Given the description of an element on the screen output the (x, y) to click on. 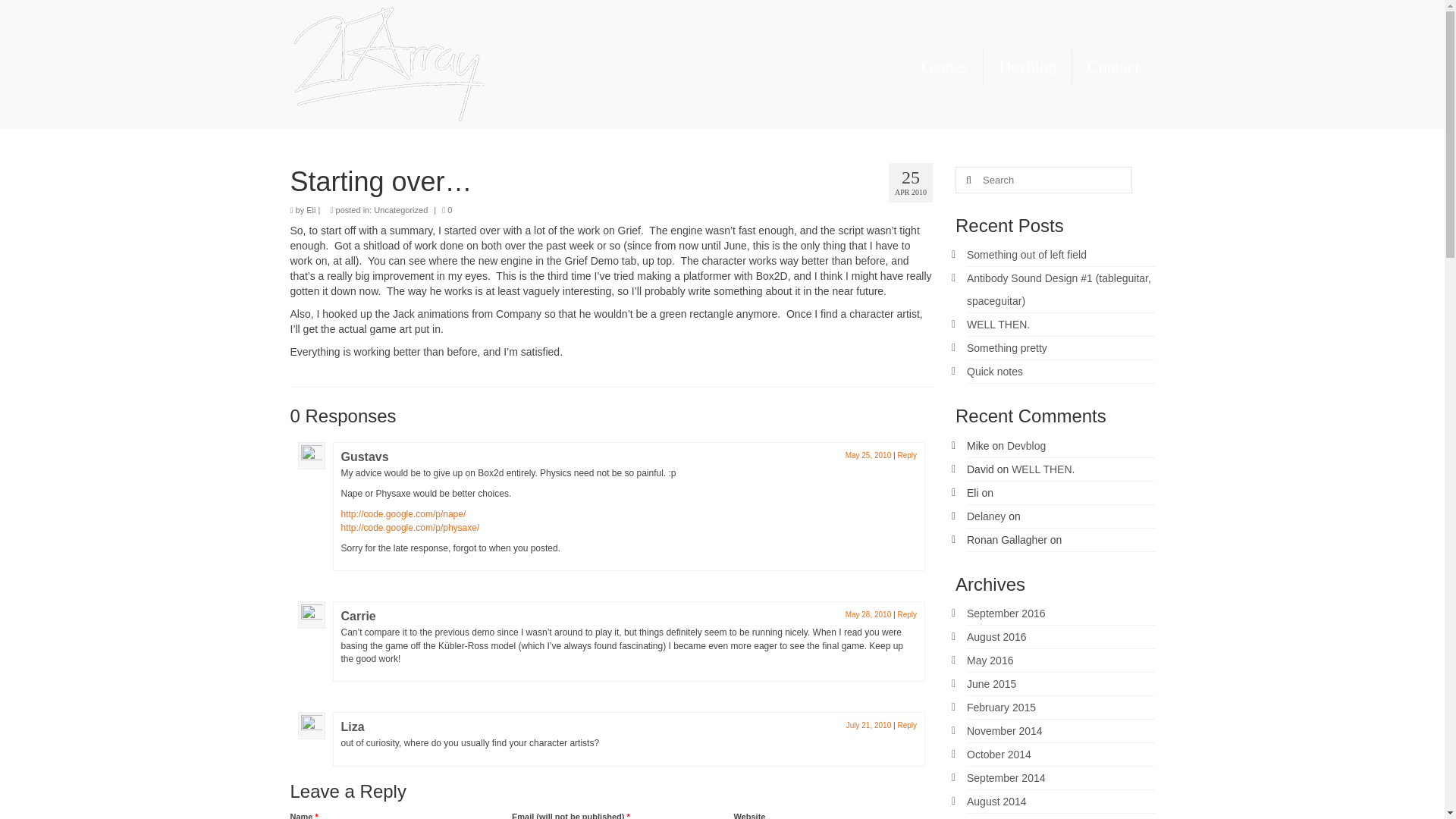
Devblog (1027, 66)
Something pretty (1006, 347)
Something out of left field (1026, 254)
Eli (310, 209)
Games (943, 66)
July 21, 2010 (868, 725)
Contact (1112, 66)
Reply (906, 614)
Reply (906, 725)
WELL THEN. (997, 324)
May 25, 2010 (868, 455)
Reply (906, 455)
Uncategorized (401, 209)
May 28, 2010 (868, 614)
